Given the description of an element on the screen output the (x, y) to click on. 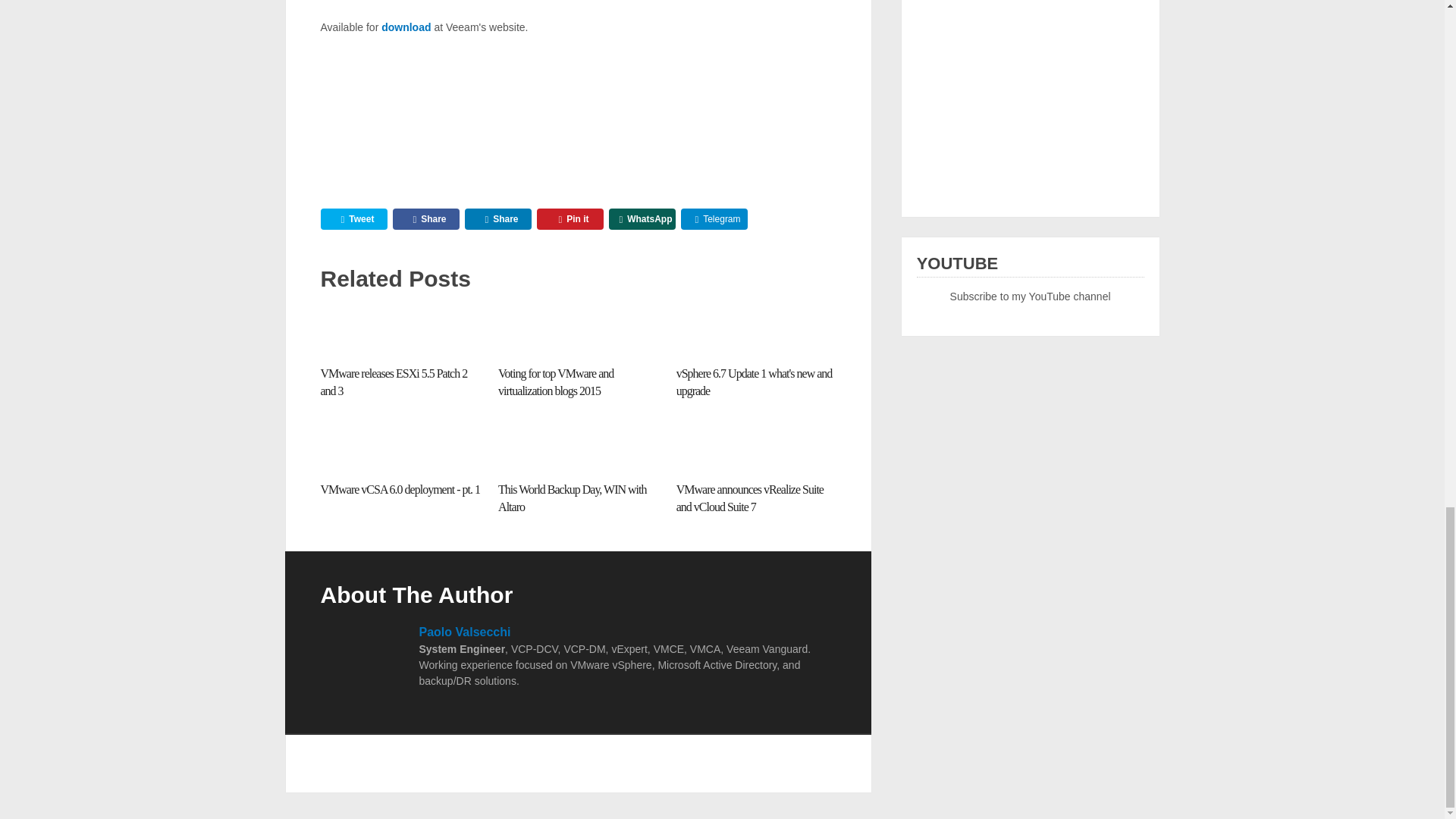
Voting for top VMware and virtualization blogs 2015 (554, 381)
vSphere 6.7 Update 1 what's new and upgrade (754, 381)
VMware vCSA 6.0 deployment - pt. 1 (400, 447)
Voting for top VMware and virtualization blogs 2015 (577, 330)
VMware vCSA 6.0 deployment - pt. 1 (399, 489)
This World Backup Day, WIN with Altaro (577, 447)
VMware releases ESXi 5.5 Patch 2 and 3 (393, 381)
Tweet (353, 219)
download (405, 27)
VMware releases ESXi 5.5 Patch 2 and 3 (400, 330)
vSphere 6.7 Update 1 what's new and upgrade (756, 330)
Veeam Availability Suite 8 released 1 (433, 107)
